Given the description of an element on the screen output the (x, y) to click on. 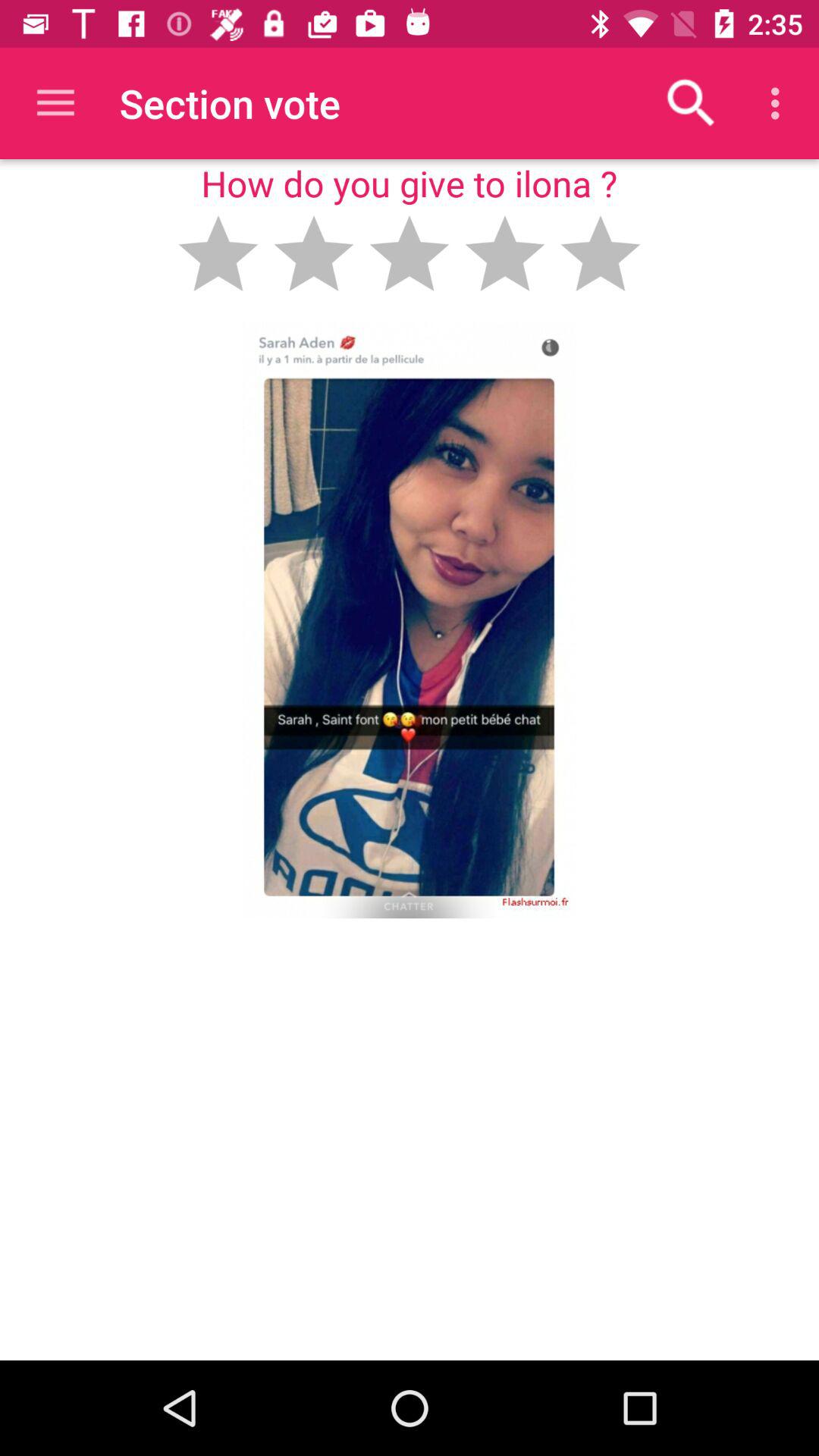
launch icon next to the how do you item (691, 103)
